Given the description of an element on the screen output the (x, y) to click on. 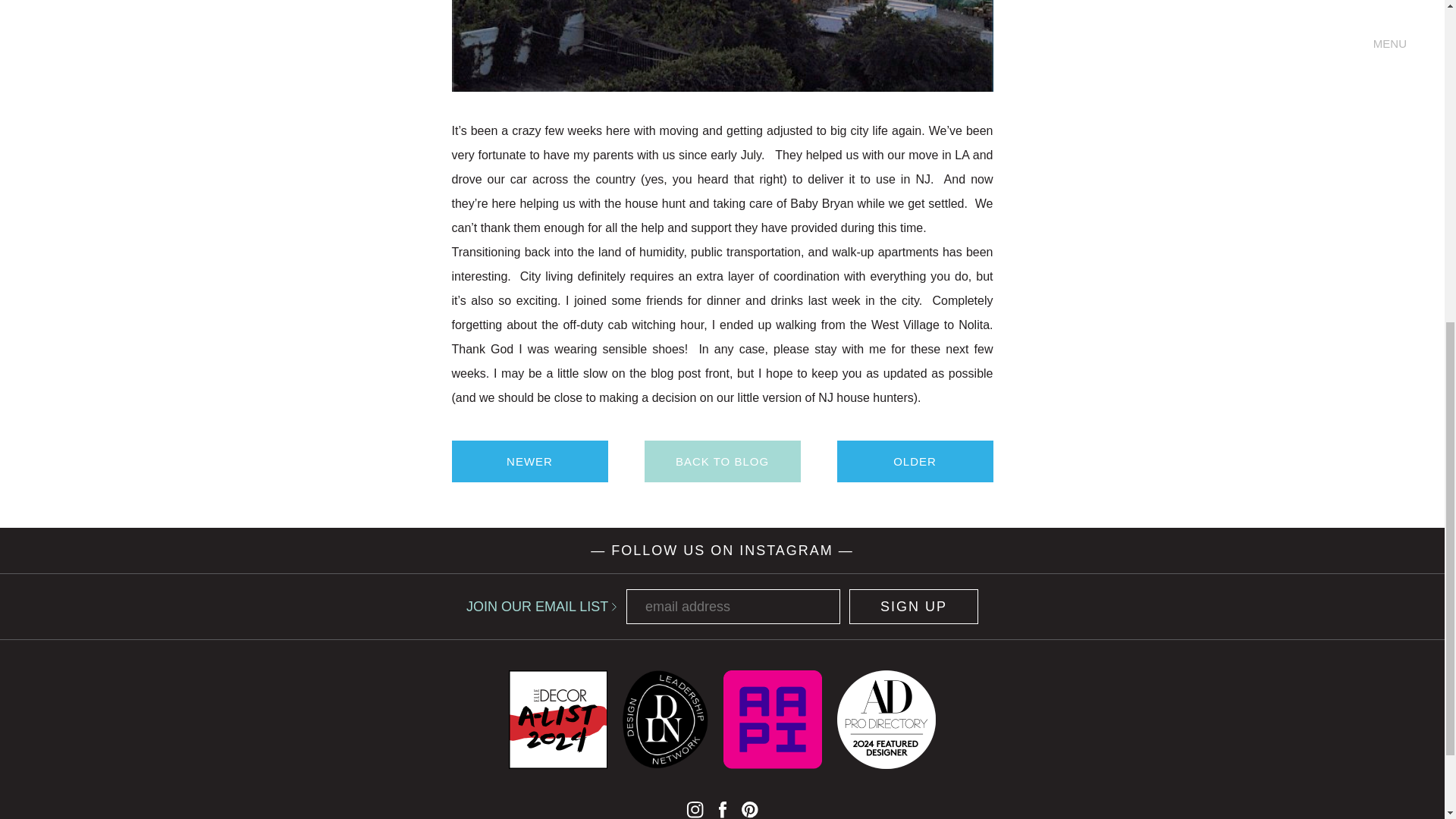
SIGN UP (913, 606)
OLDER (914, 461)
Instagram (695, 809)
BACK TO BLOG (722, 461)
email (733, 606)
NEWER (529, 461)
Pinterest (749, 809)
